Given the description of an element on the screen output the (x, y) to click on. 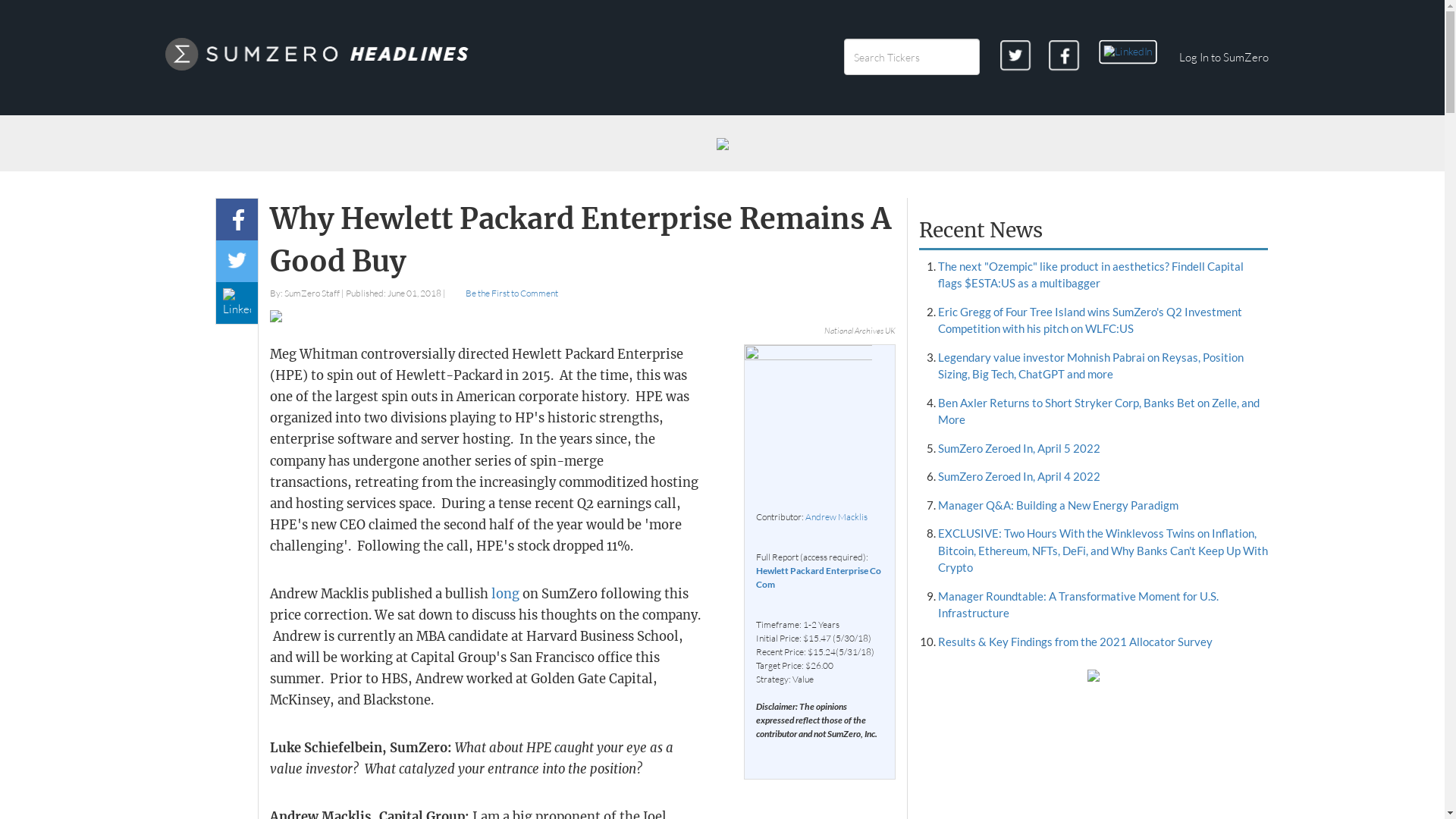
long (505, 593)
SumZero Zeroed In, April 4 2022 (1018, 476)
Andrew Macklis (836, 516)
Why Hewlett Packard Enterprise Remains A Good Buy (582, 240)
SumZero Zeroed In, April 5 2022 (1018, 448)
Log In to SumZero (1223, 57)
Be the First to Comment (501, 292)
